Given the description of an element on the screen output the (x, y) to click on. 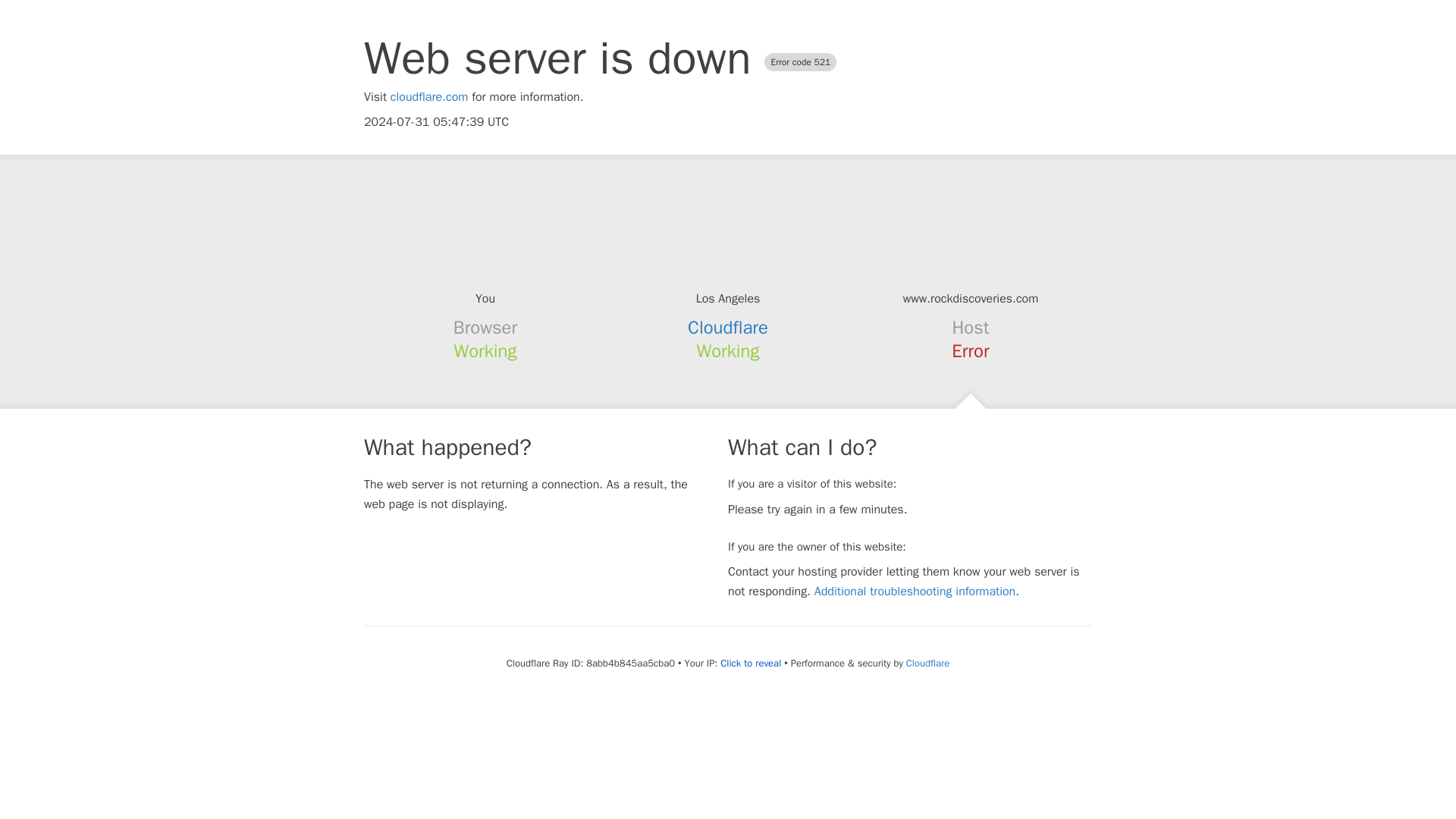
Cloudflare (927, 662)
cloudflare.com (429, 96)
Click to reveal (750, 663)
Cloudflare (727, 327)
Additional troubleshooting information (913, 590)
